Given the description of an element on the screen output the (x, y) to click on. 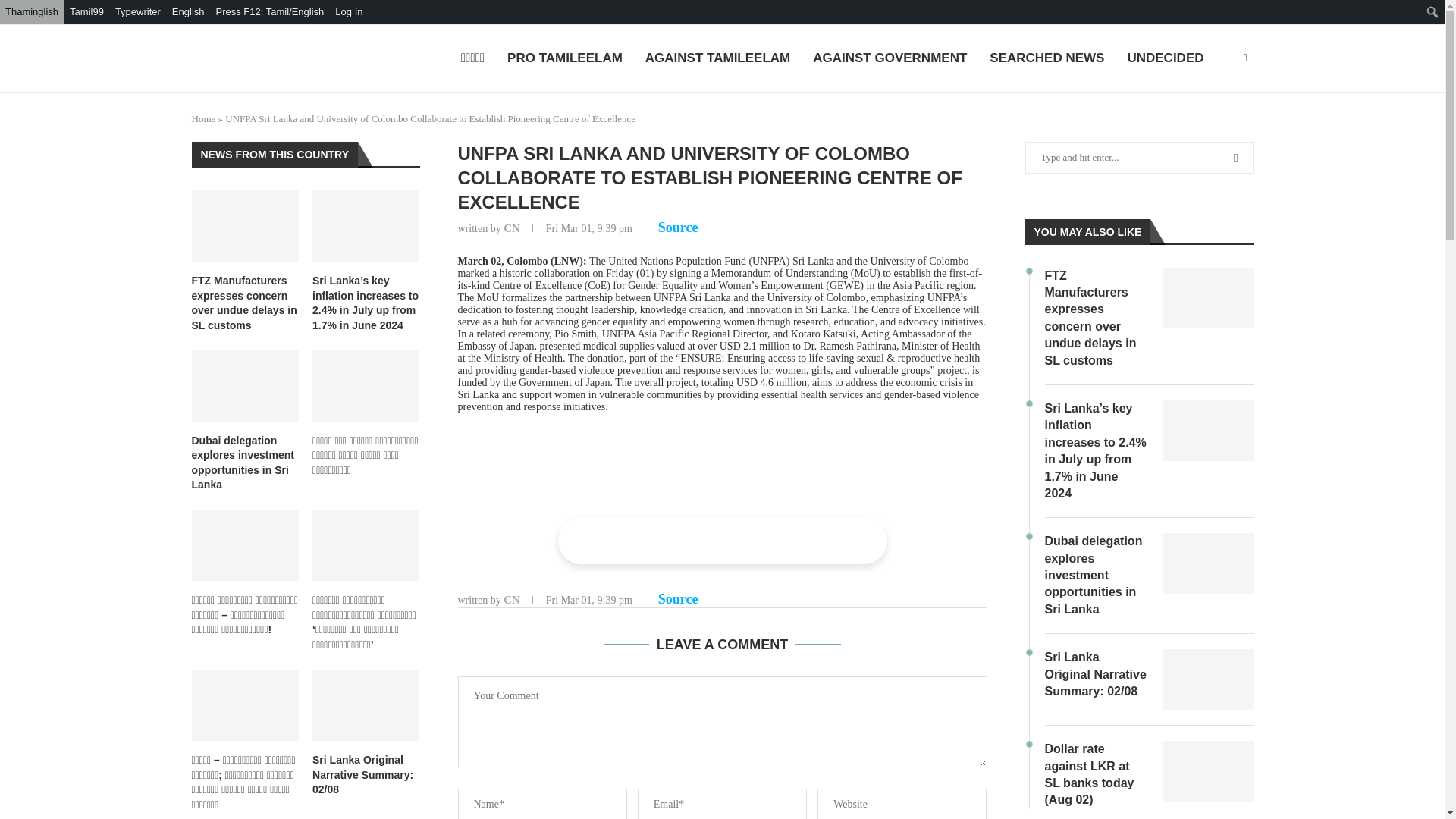
Thaminglish (32, 12)
Click to select Tamil99 keyboard (87, 12)
Home (202, 118)
Search (114, 15)
Read original story (678, 598)
English (189, 12)
AGAINST GOVERNMENT (889, 58)
Click to select English keyboard (189, 12)
PRO TAMILEELAM (564, 58)
Source (678, 598)
CN (511, 599)
Read original story (678, 227)
Log In (349, 12)
Click to select Baamini keyboard (138, 12)
